Given the description of an element on the screen output the (x, y) to click on. 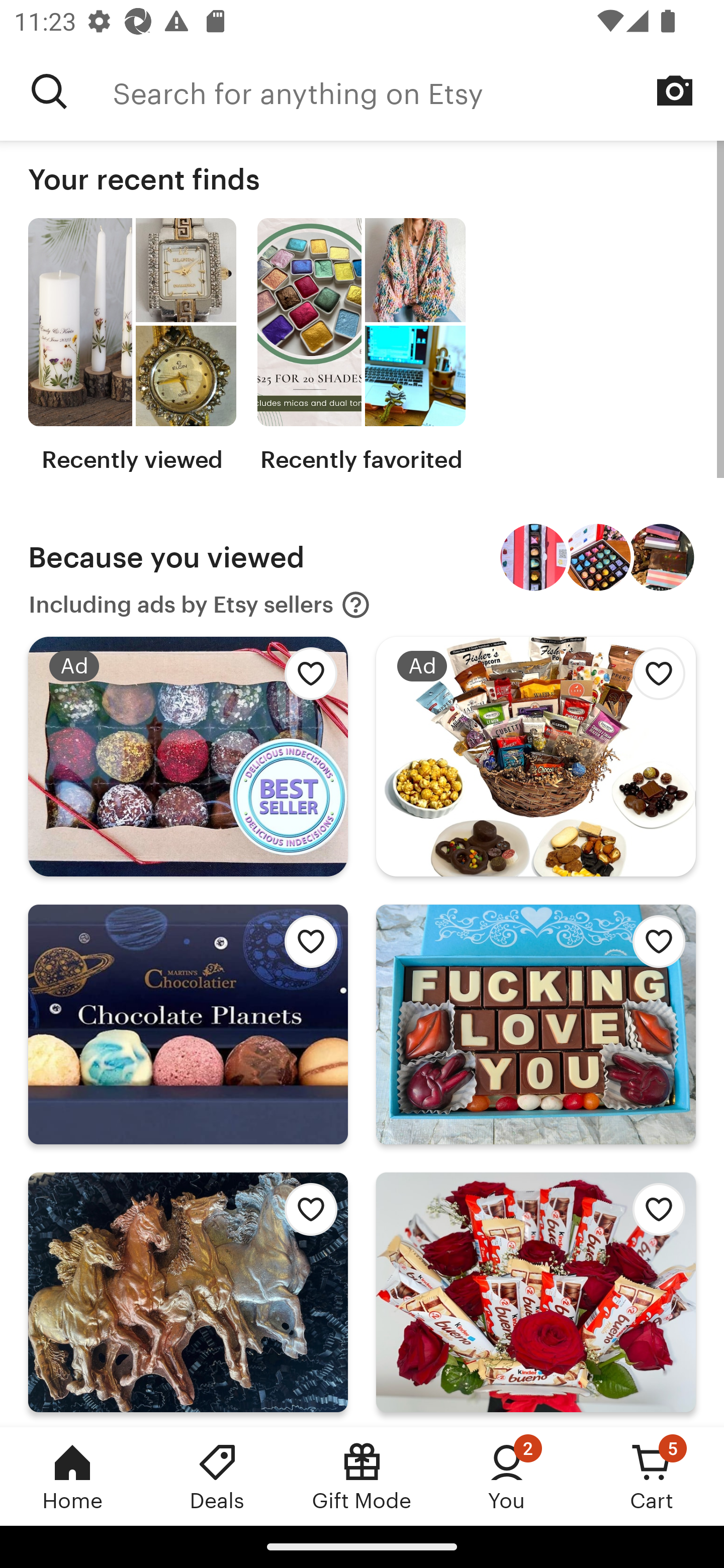
Search for anything on Etsy (49, 91)
Search by image (674, 90)
Search for anything on Etsy (418, 91)
Recently viewed (132, 345)
Recently favorited (361, 345)
Including ads by Etsy sellers (199, 604)
Add Premium roses & bueno bouquet to favorites (653, 1214)
Deals (216, 1475)
Gift Mode (361, 1475)
You, 2 new notifications You (506, 1475)
Cart, 5 new notifications Cart (651, 1475)
